Given the description of an element on the screen output the (x, y) to click on. 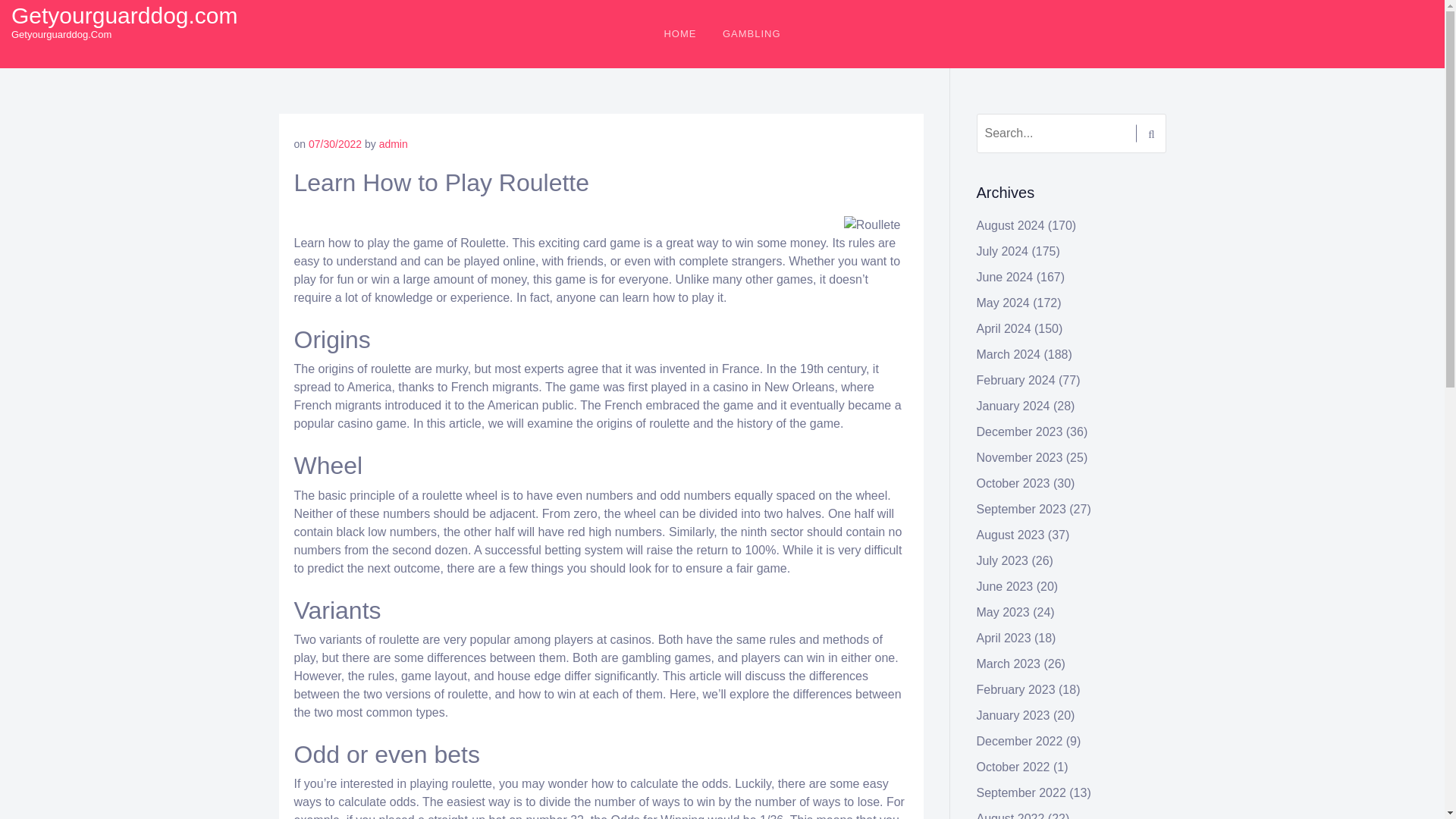
June 2023 (1004, 585)
Getyourguarddog.com (124, 15)
admin (392, 143)
May 2023 (1002, 612)
February 2023 (1015, 689)
August 2024 (1010, 225)
April 2023 (1003, 637)
November 2023 (1019, 457)
October 2022 (1012, 766)
March 2024 (1008, 354)
